Given the description of an element on the screen output the (x, y) to click on. 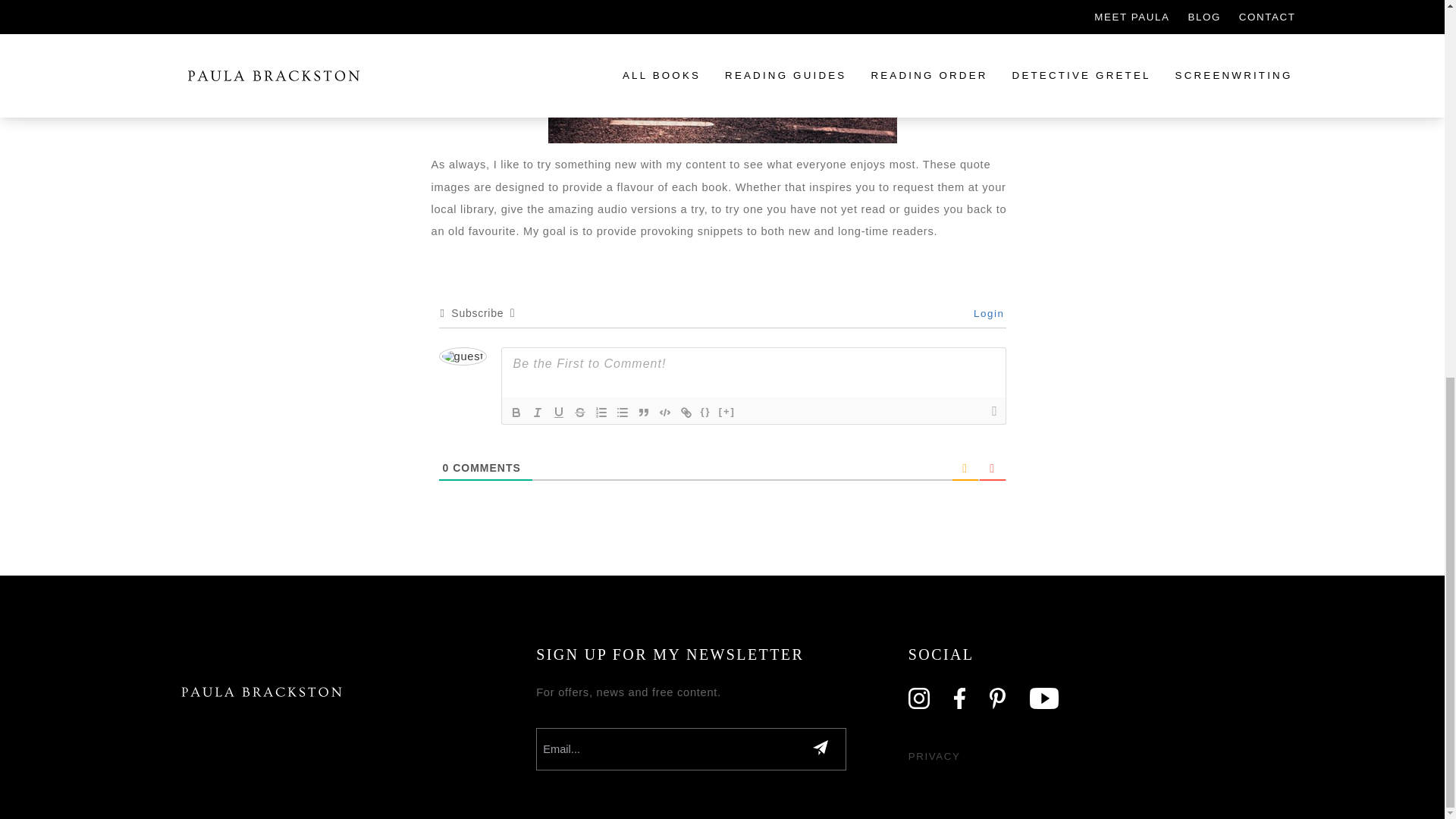
Strike (579, 412)
Underline (558, 412)
Italic (536, 412)
ordered (600, 412)
Spoiler (726, 412)
Link (685, 412)
Login (986, 313)
Blockquote (642, 412)
Code Block (664, 412)
Source Code (704, 412)
Ordered List (600, 412)
Bold (515, 412)
bullet (621, 412)
Unordered List (621, 412)
